Given the description of an element on the screen output the (x, y) to click on. 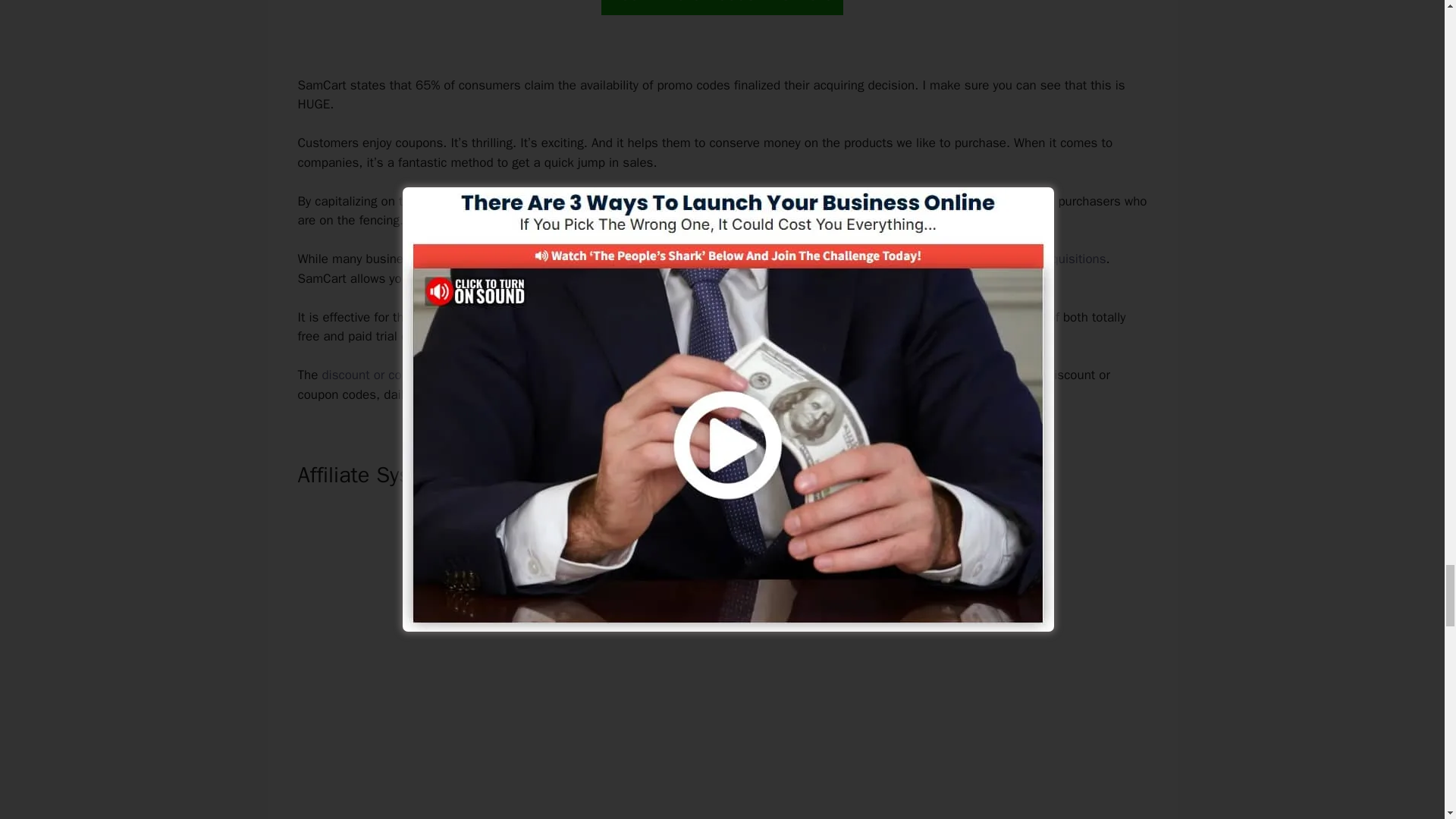
automatically applied to their acquisitions (988, 258)
Learn More About This Here (722, 7)
discount or coupon code (390, 374)
